Given the description of an element on the screen output the (x, y) to click on. 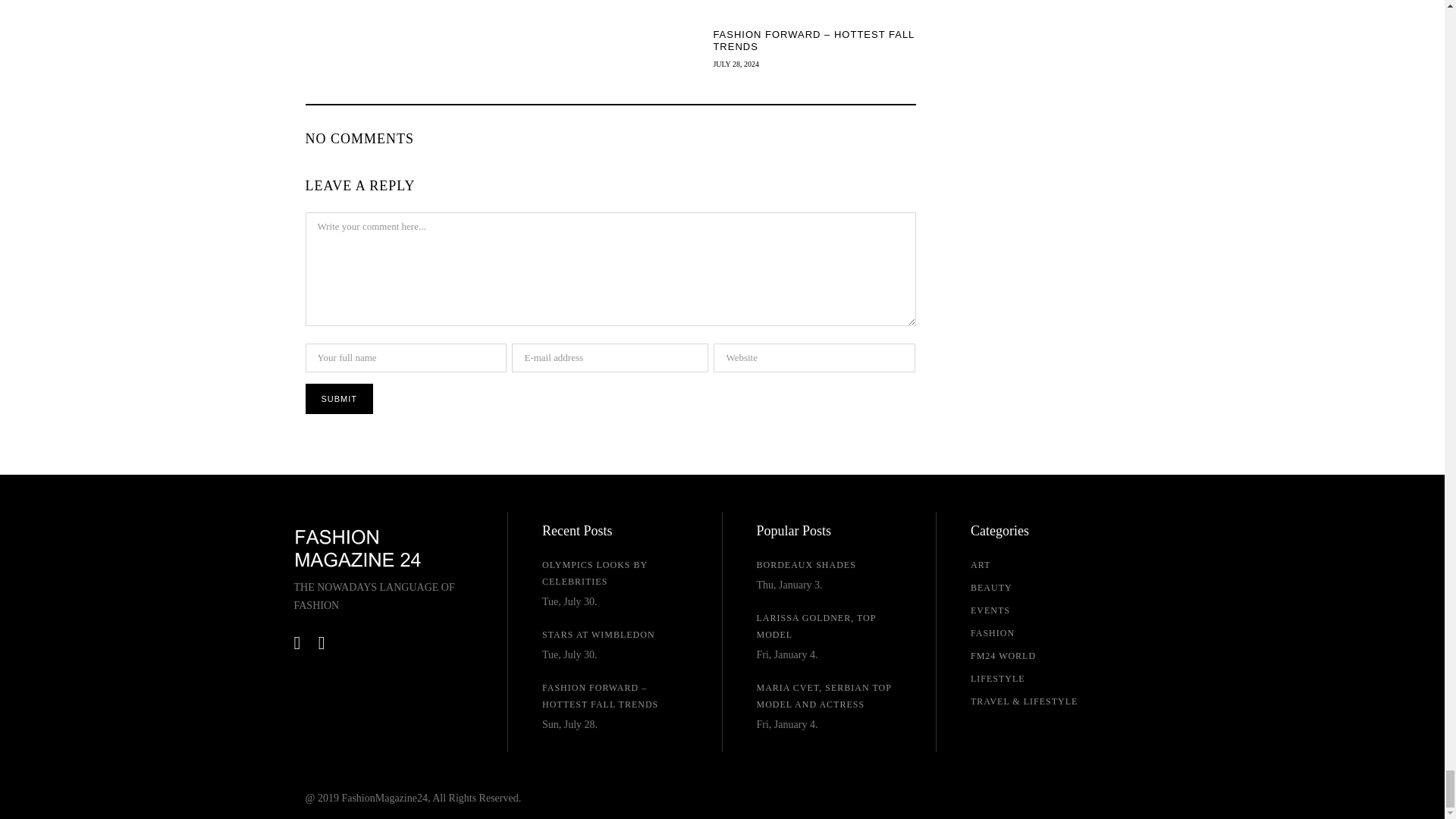
Submit (338, 399)
